Given the description of an element on the screen output the (x, y) to click on. 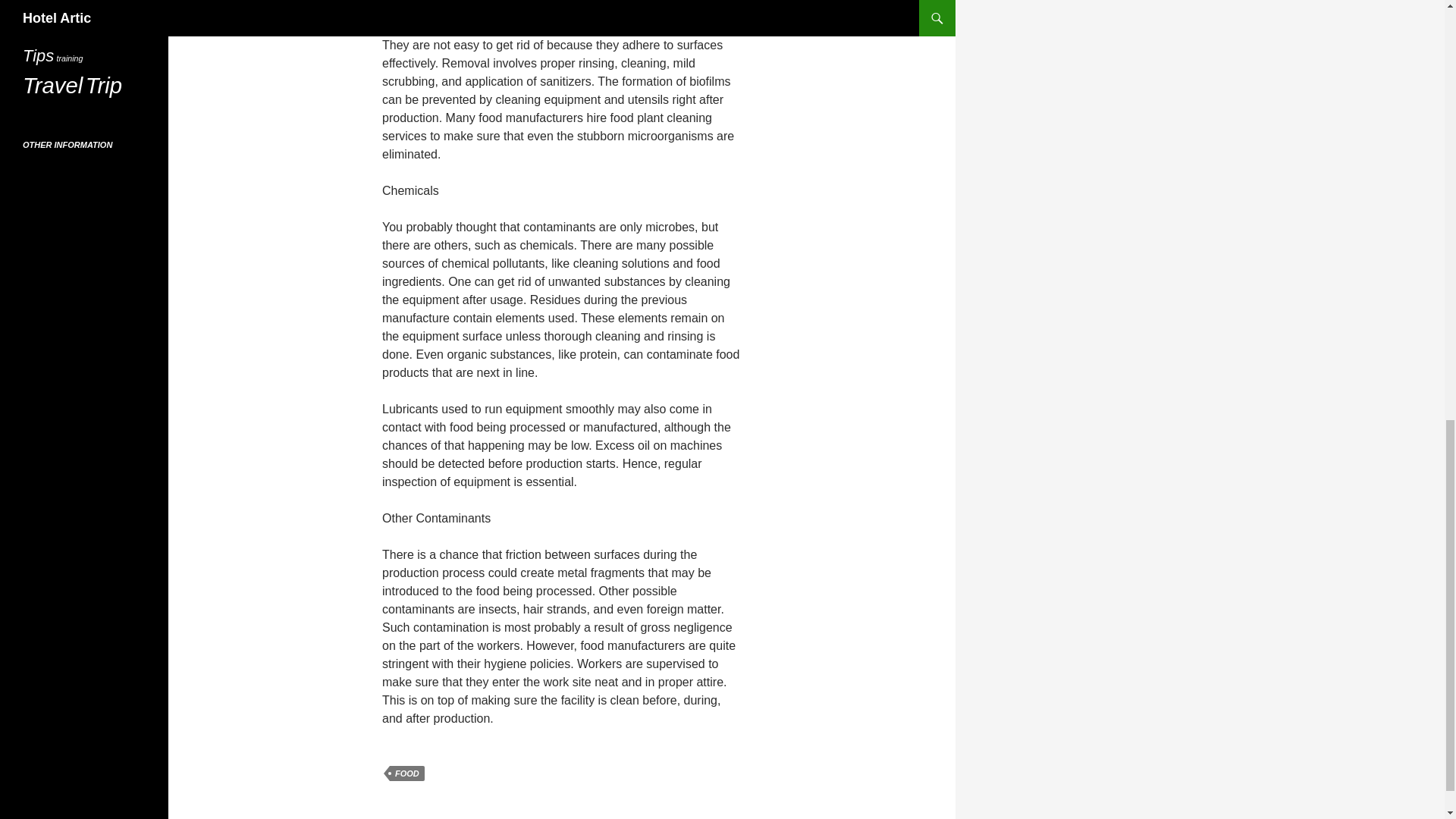
FOOD (407, 773)
